Given the description of an element on the screen output the (x, y) to click on. 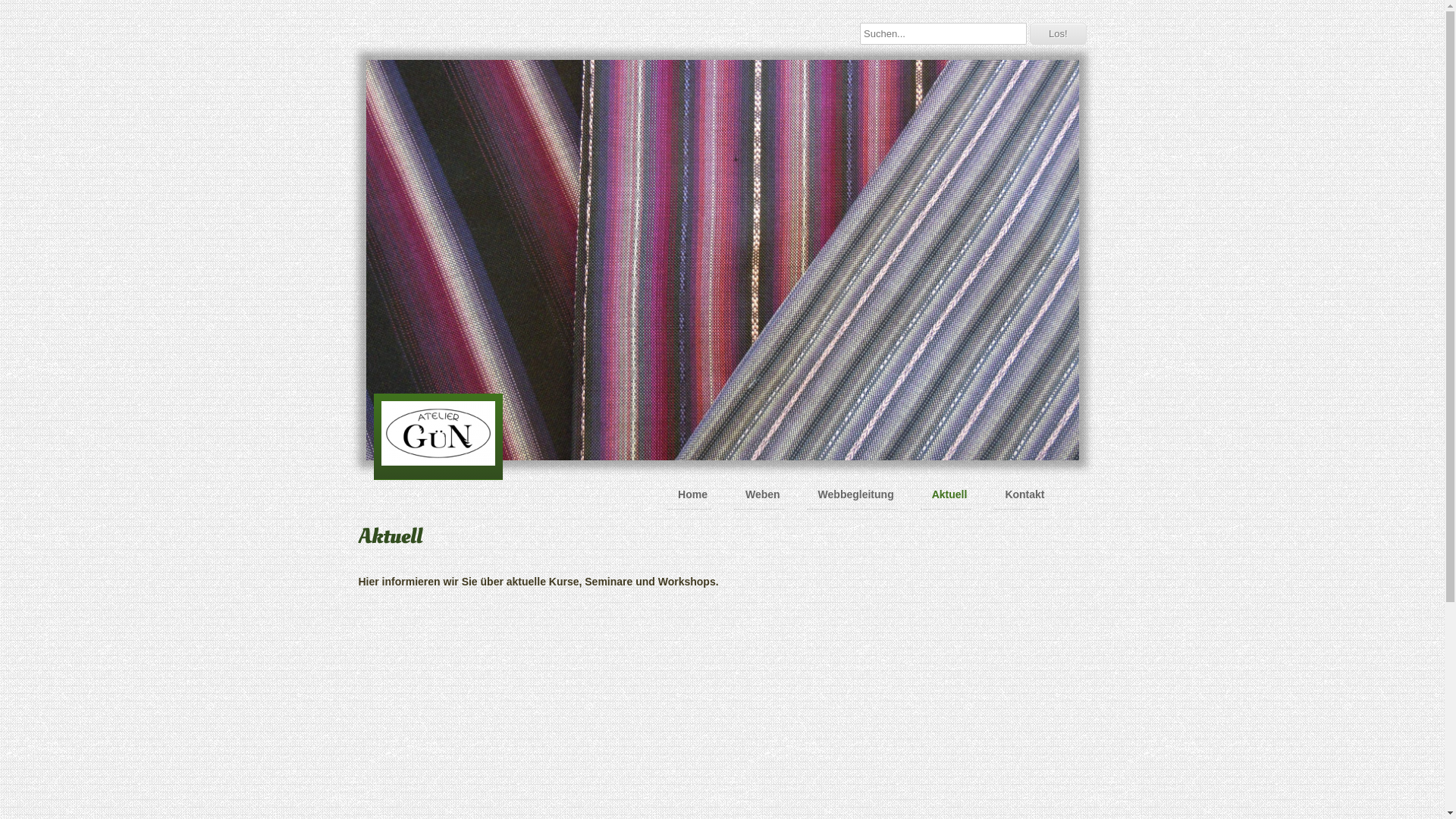
Kontakt Element type: text (1020, 494)
Weben Element type: text (759, 494)
Home Element type: text (688, 494)
Aktuell Element type: text (945, 494)
Los! Element type: text (1057, 33)
Webbegleitung Element type: text (851, 494)
